Given the description of an element on the screen output the (x, y) to click on. 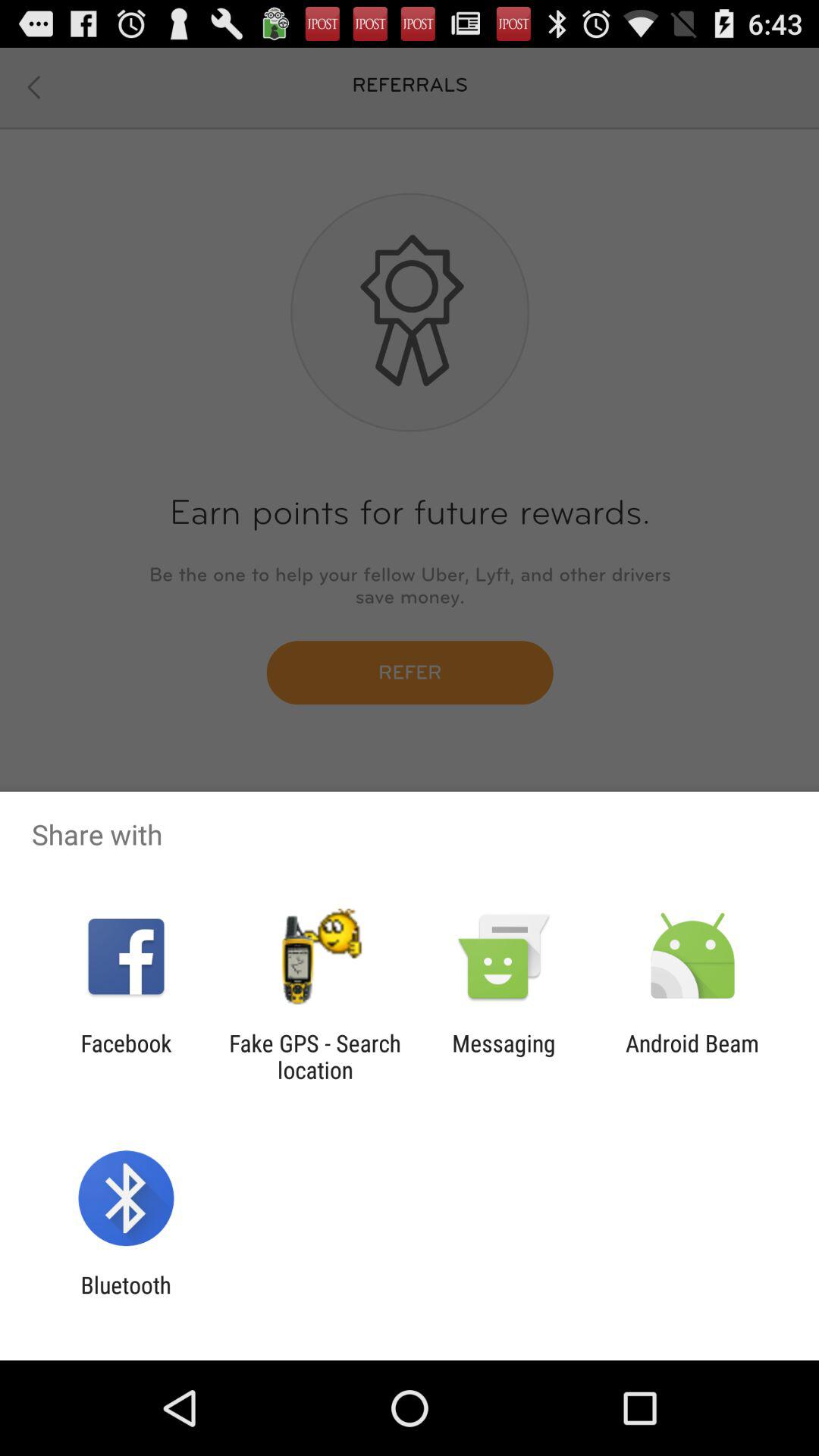
tap the icon next to the facebook item (314, 1056)
